Given the description of an element on the screen output the (x, y) to click on. 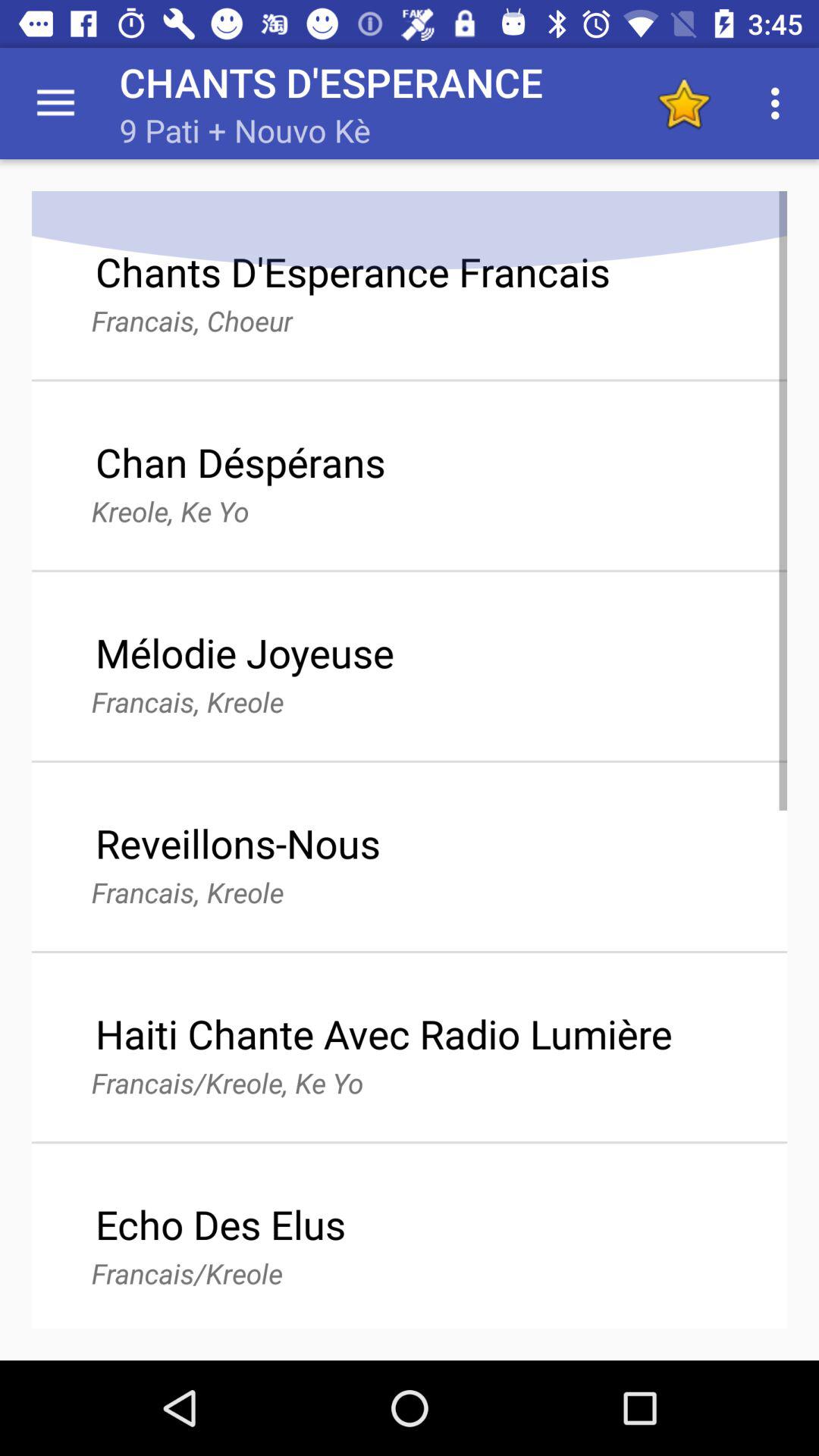
swipe until the reveillons-nous (237, 842)
